Given the description of an element on the screen output the (x, y) to click on. 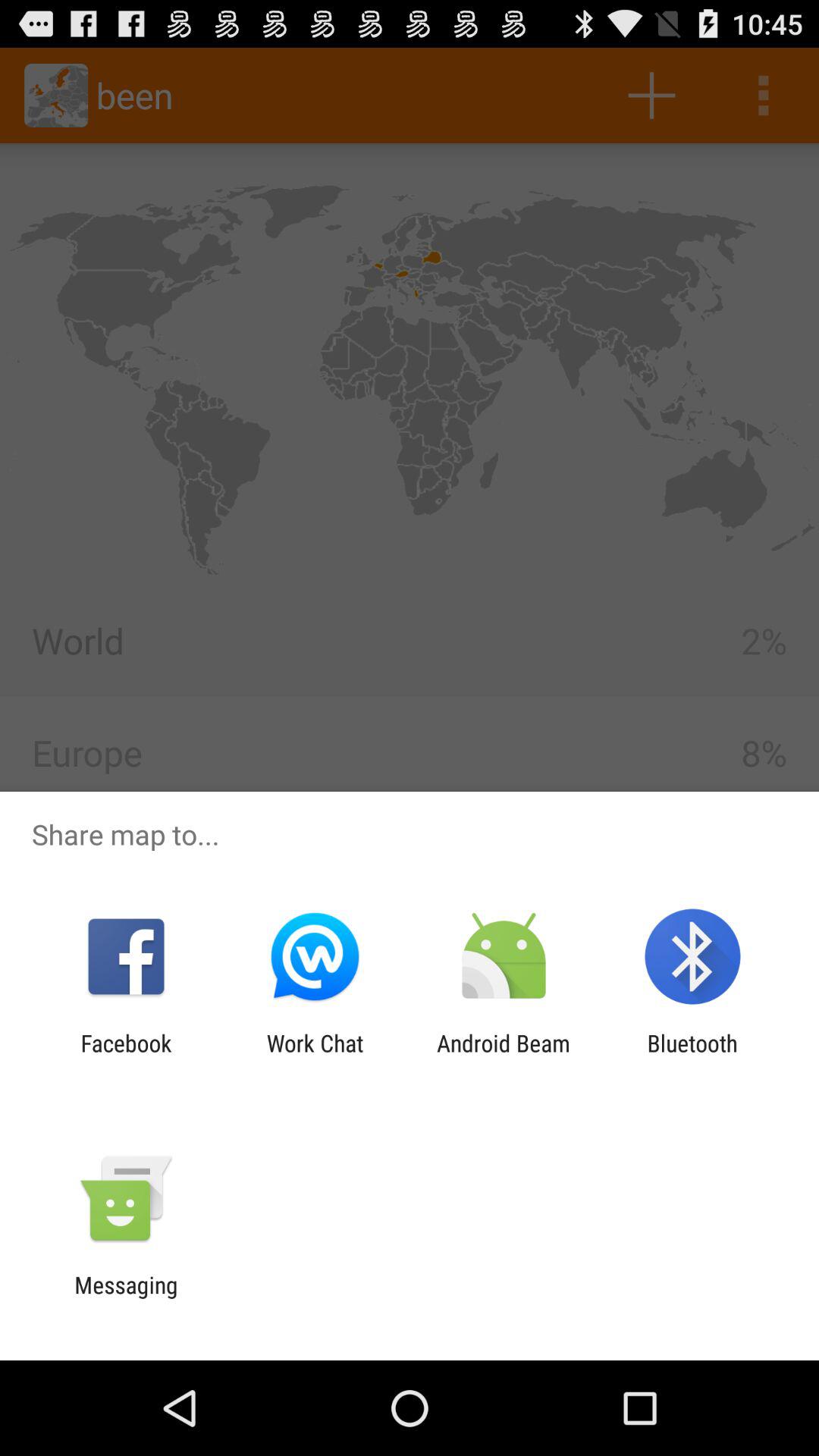
launch the work chat item (314, 1056)
